Given the description of an element on the screen output the (x, y) to click on. 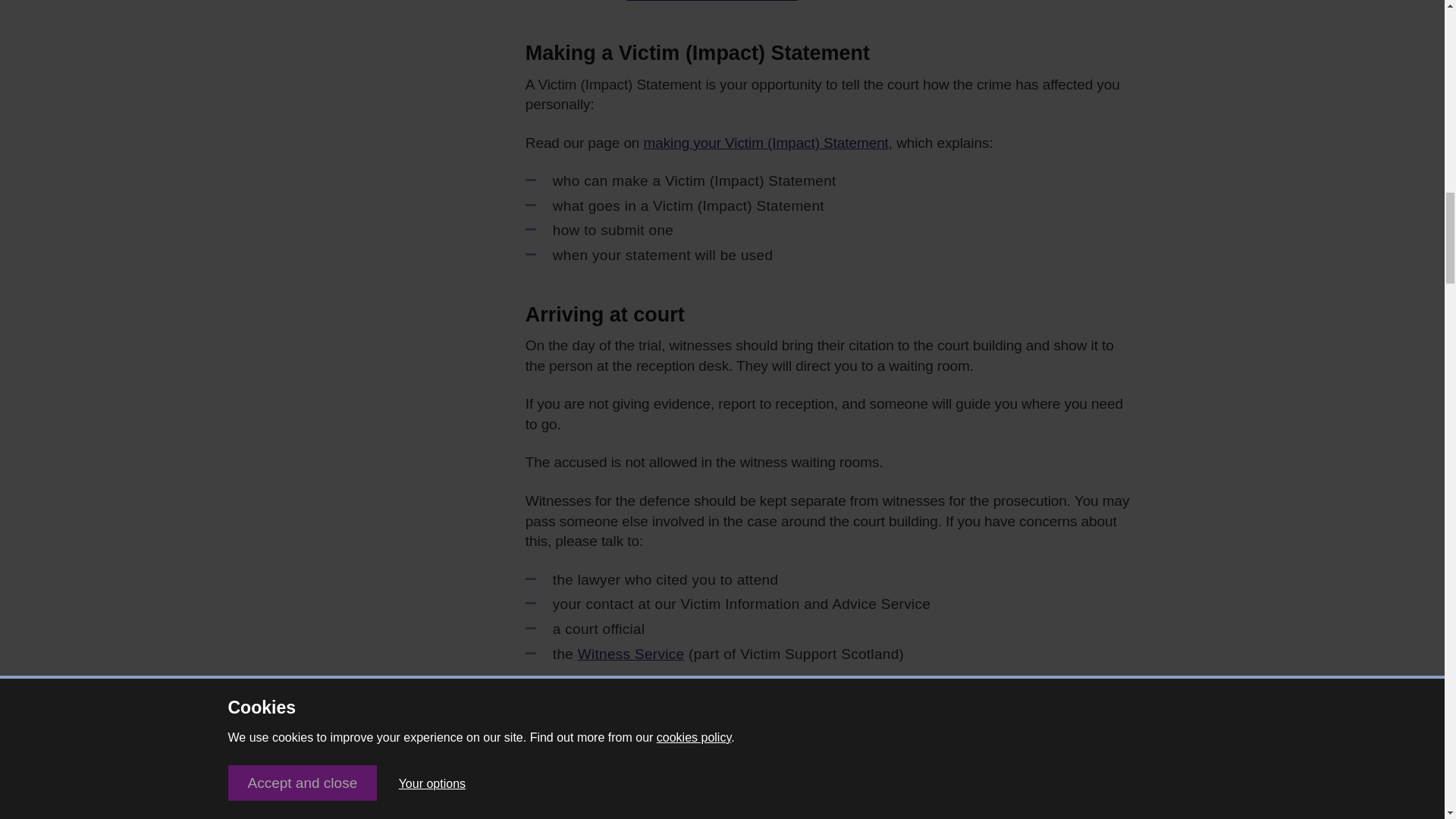
Sections in this page (350, 7)
Sections in this page (350, 7)
